Given the description of an element on the screen output the (x, y) to click on. 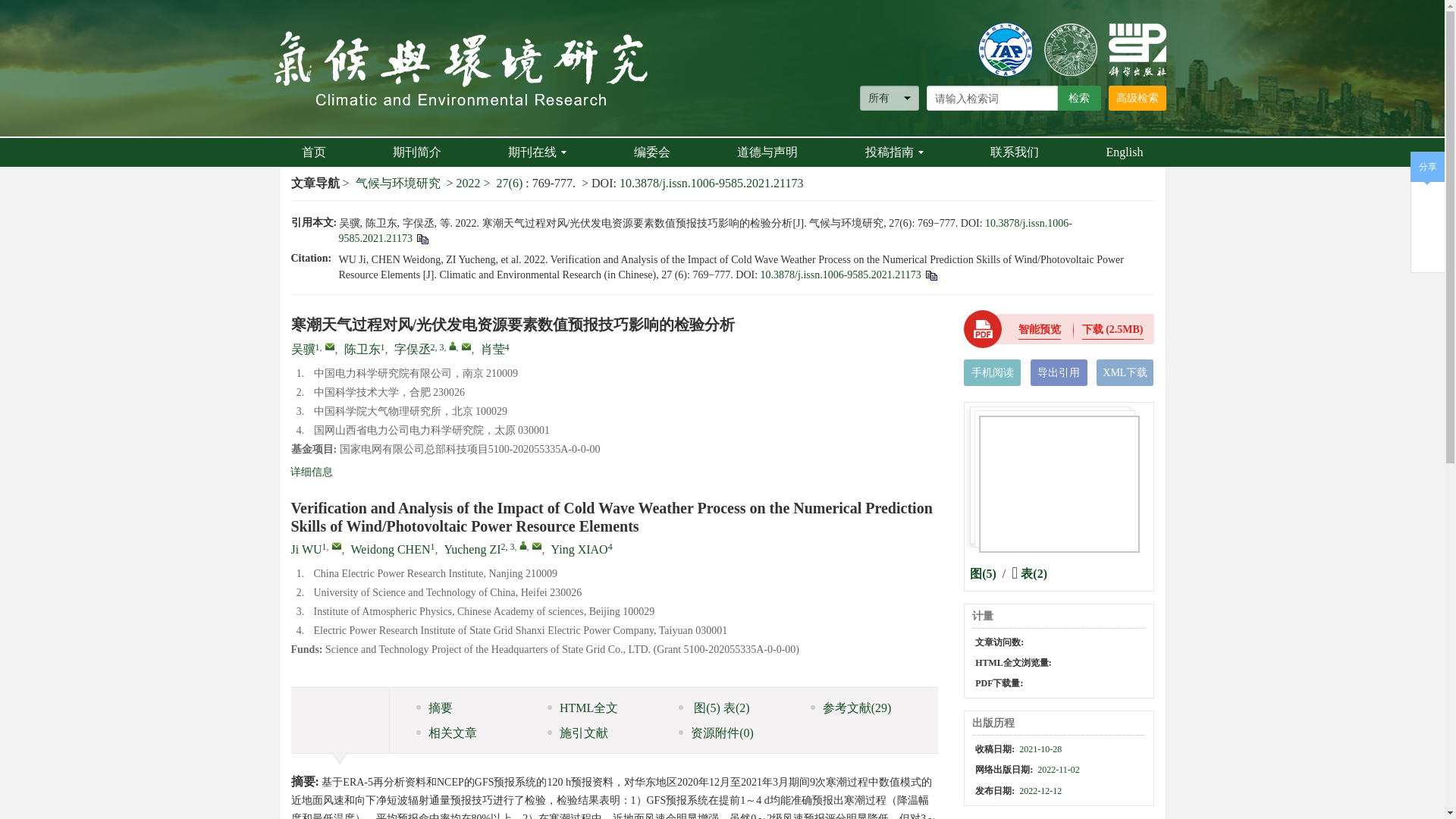
copy to clipboard (930, 274)
English (1124, 152)
